Given the description of an element on the screen output the (x, y) to click on. 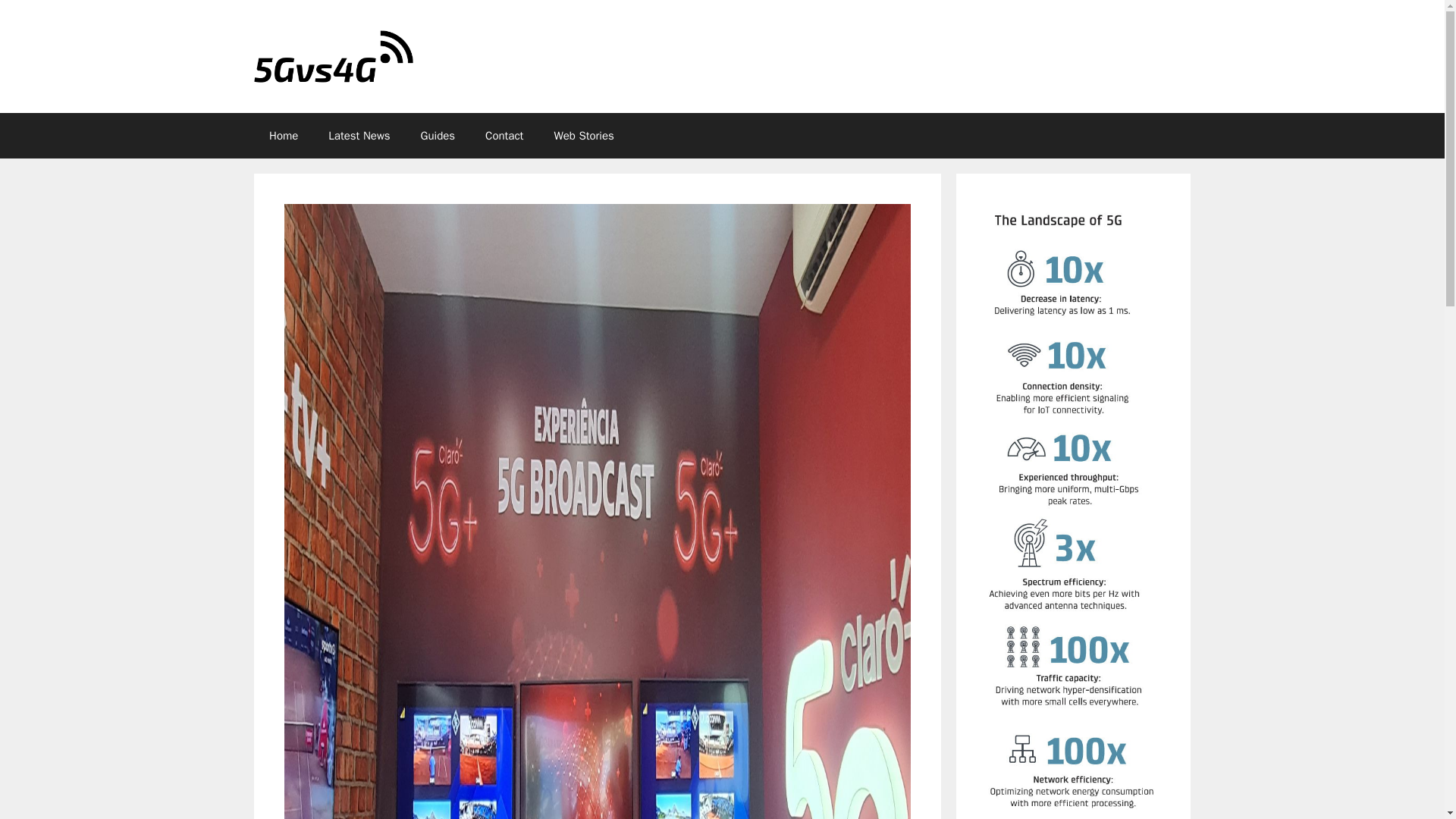
Guides (438, 135)
5Gversus4G.com (333, 56)
5Gversus4G.com (333, 55)
Contact (504, 135)
Latest News (358, 135)
Web Stories (583, 135)
Home (283, 135)
